Given the description of an element on the screen output the (x, y) to click on. 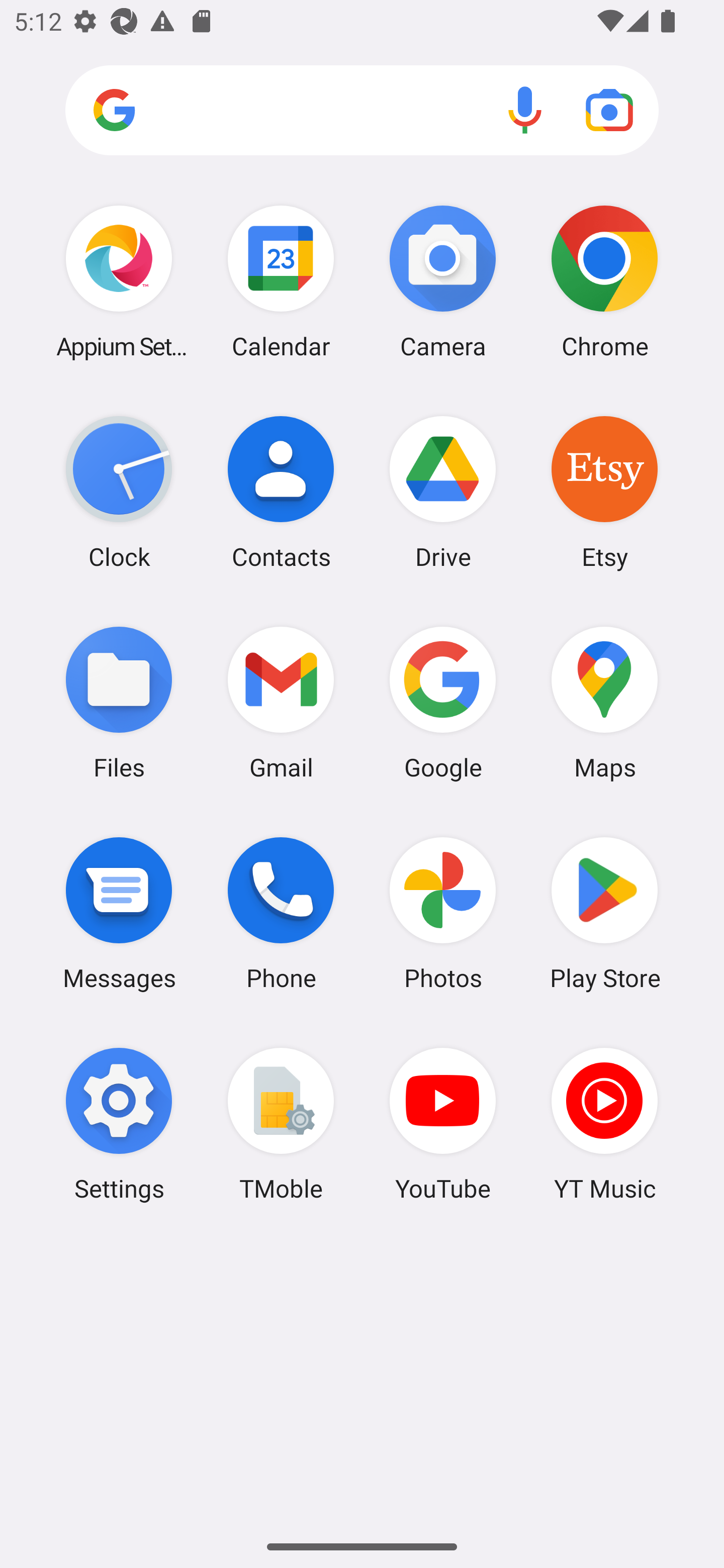
Search apps, web and more (361, 110)
Voice search (524, 109)
Google Lens (608, 109)
Appium Settings (118, 281)
Calendar (280, 281)
Camera (443, 281)
Chrome (604, 281)
Clock (118, 492)
Contacts (280, 492)
Drive (443, 492)
Etsy (604, 492)
Files (118, 702)
Gmail (280, 702)
Google (443, 702)
Maps (604, 702)
Messages (118, 913)
Phone (280, 913)
Photos (443, 913)
Play Store (604, 913)
Settings (118, 1124)
TMoble (280, 1124)
YouTube (443, 1124)
YT Music (604, 1124)
